Given the description of an element on the screen output the (x, y) to click on. 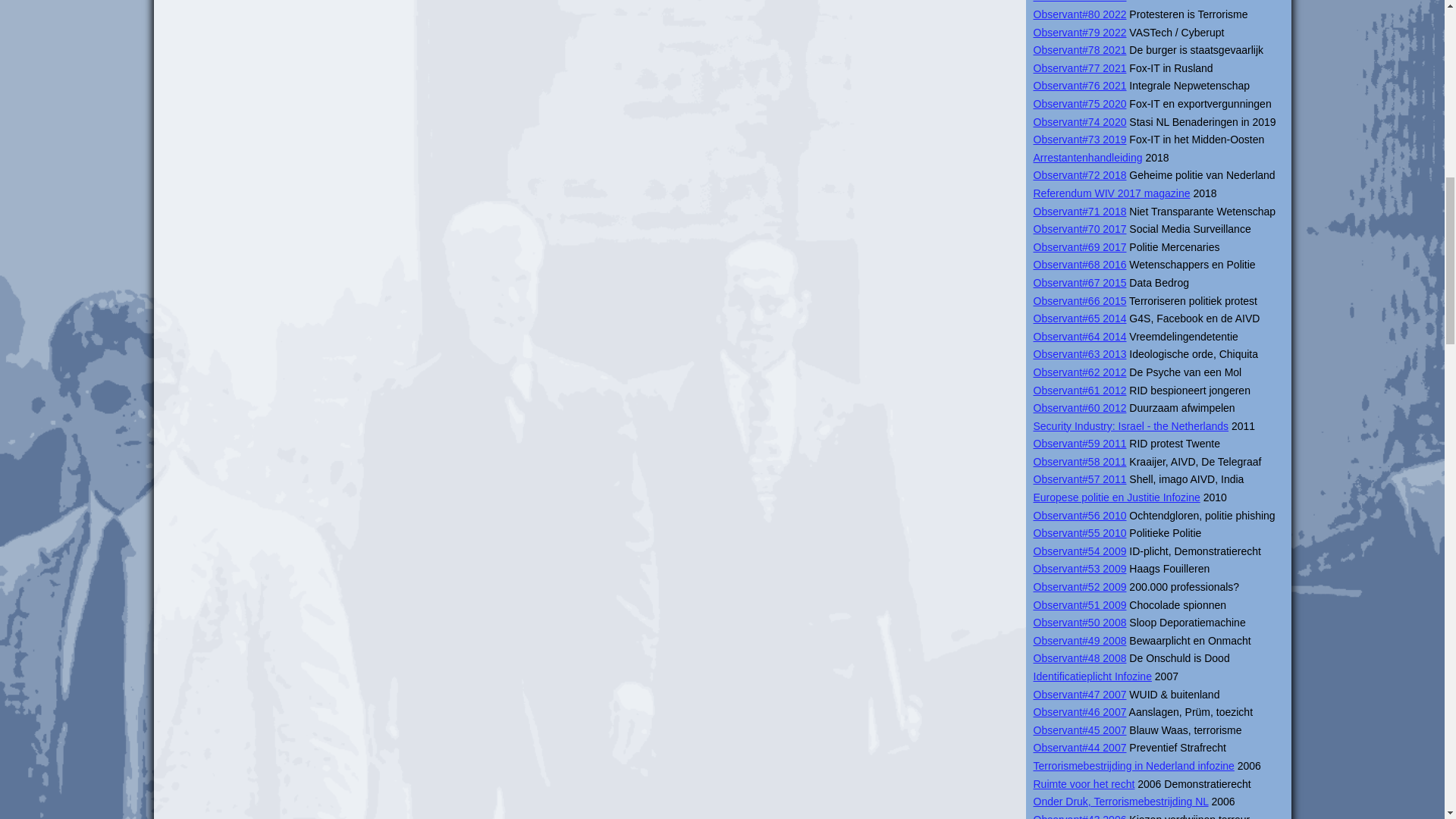
Referendum WIV 2017 magazine (1110, 193)
Arrestantenhandleiding (1086, 157)
